Given the description of an element on the screen output the (x, y) to click on. 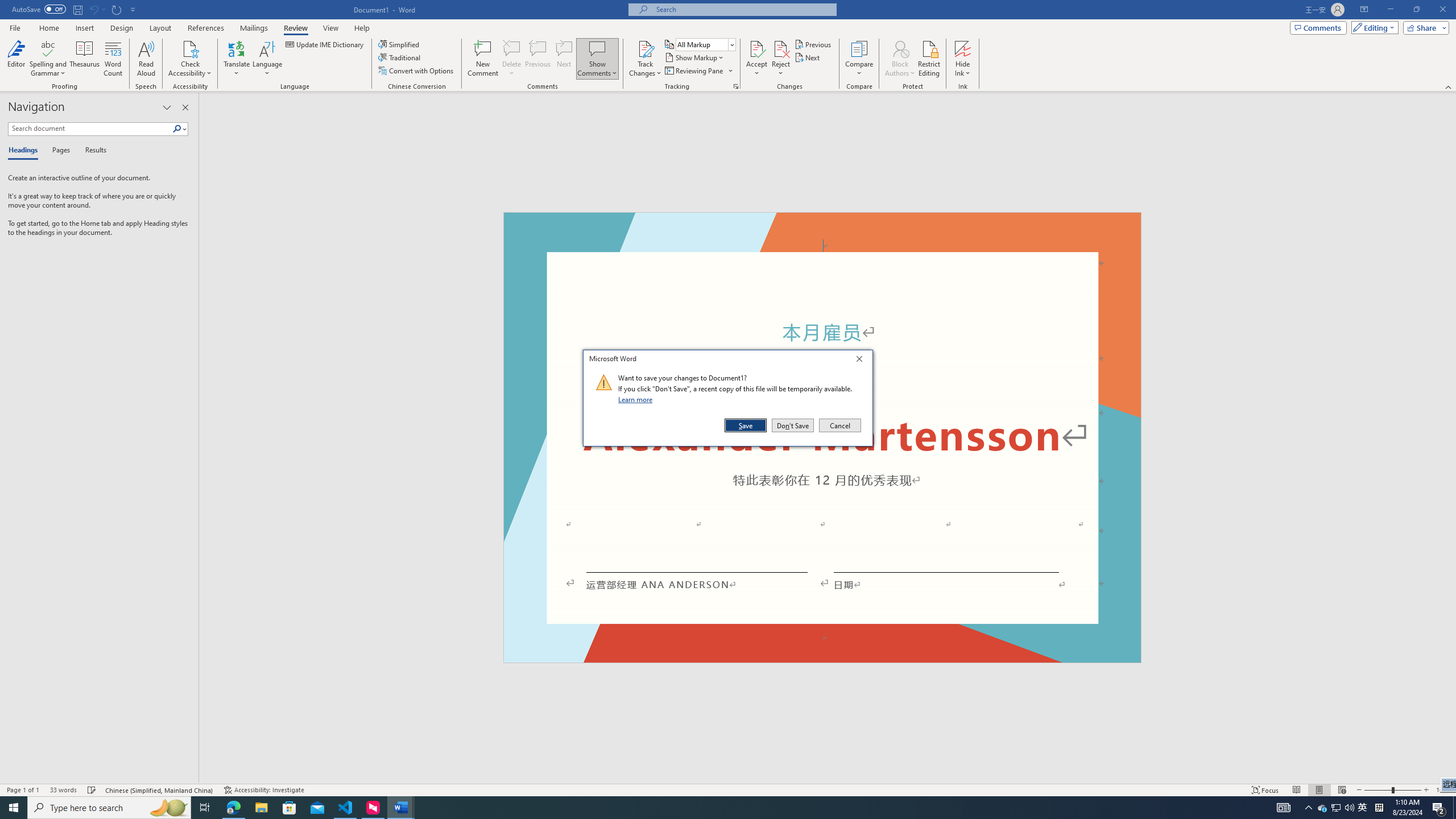
Previous (813, 44)
Can't Undo (92, 9)
File Explorer (261, 807)
Update IME Dictionary... (324, 44)
Reviewing Pane (698, 69)
Check Accessibility (189, 58)
Delete (511, 58)
Thesaurus... (84, 58)
